Given the description of an element on the screen output the (x, y) to click on. 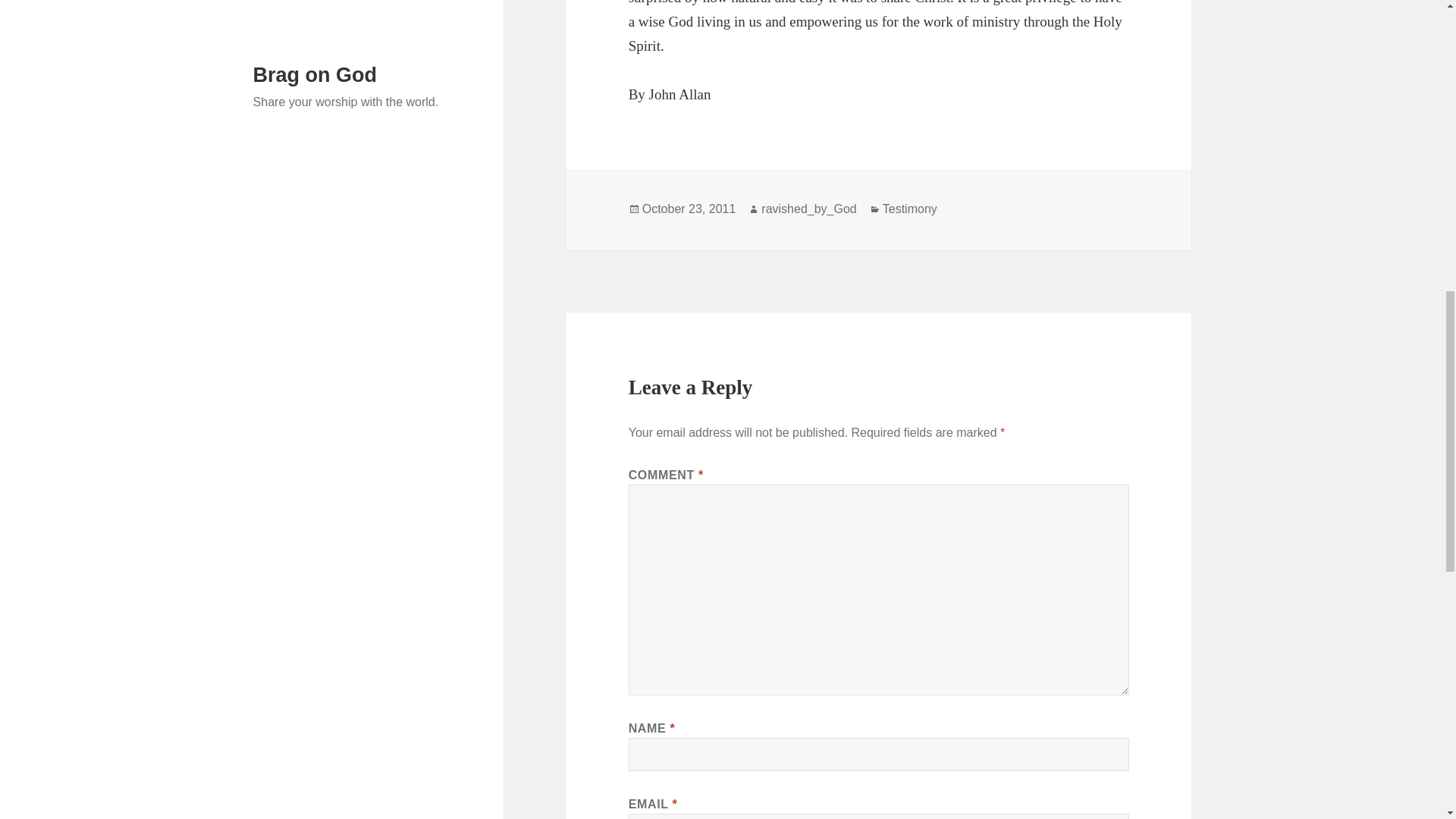
October 23, 2011 (689, 209)
Testimony (909, 209)
